Given the description of an element on the screen output the (x, y) to click on. 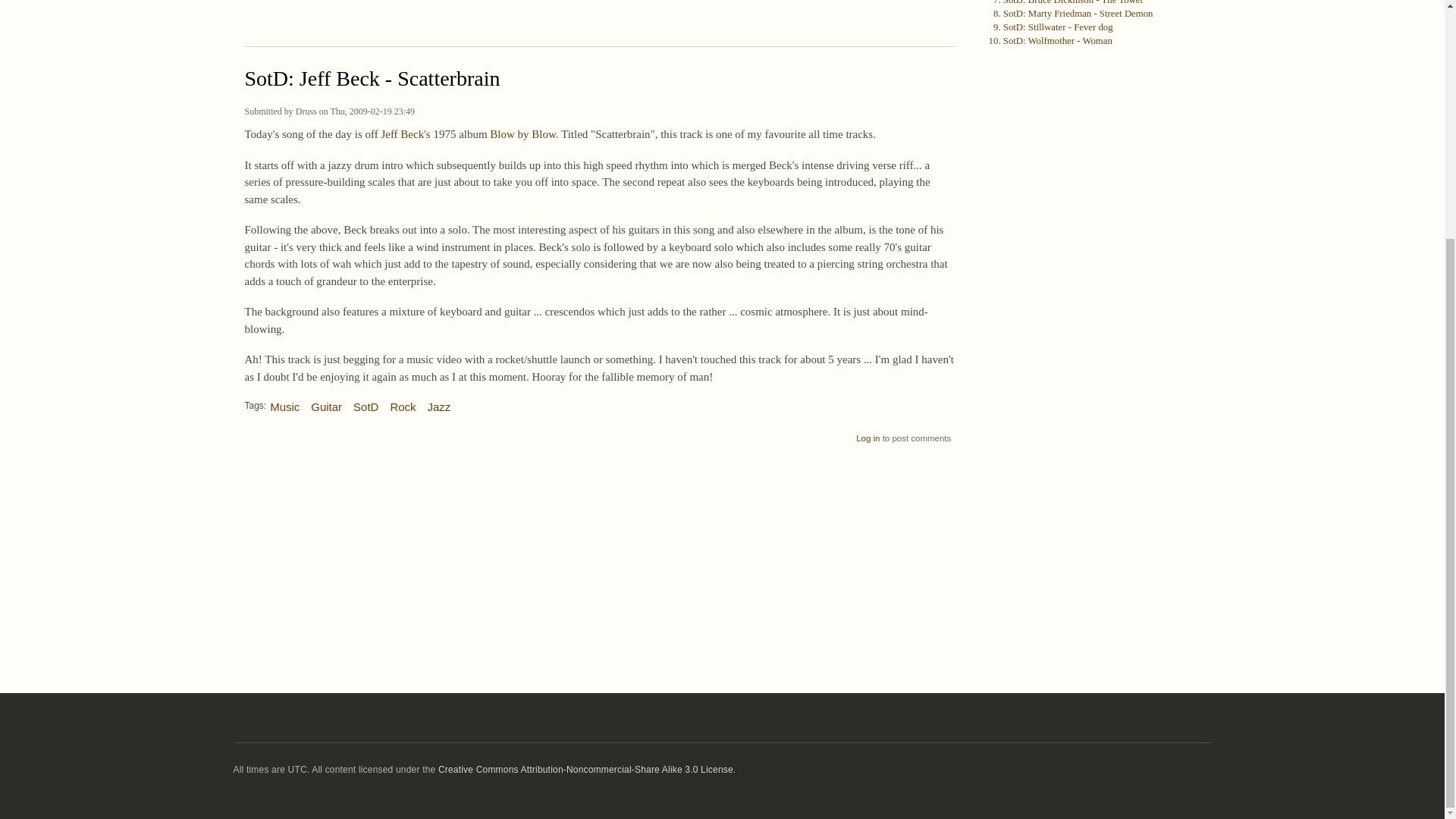
Blow by Blow (521, 133)
Guitar (326, 401)
SotD: Stillwater - Fever dog (1058, 27)
SotD: Wolfmother - Woman (1057, 40)
Music (284, 401)
Advertisement (599, 20)
Jeff Beck (401, 133)
SotD: Bruce Dickinson - The Tower (1072, 2)
SotD: Marty Friedman - Street Demon (1078, 13)
